Given the description of an element on the screen output the (x, y) to click on. 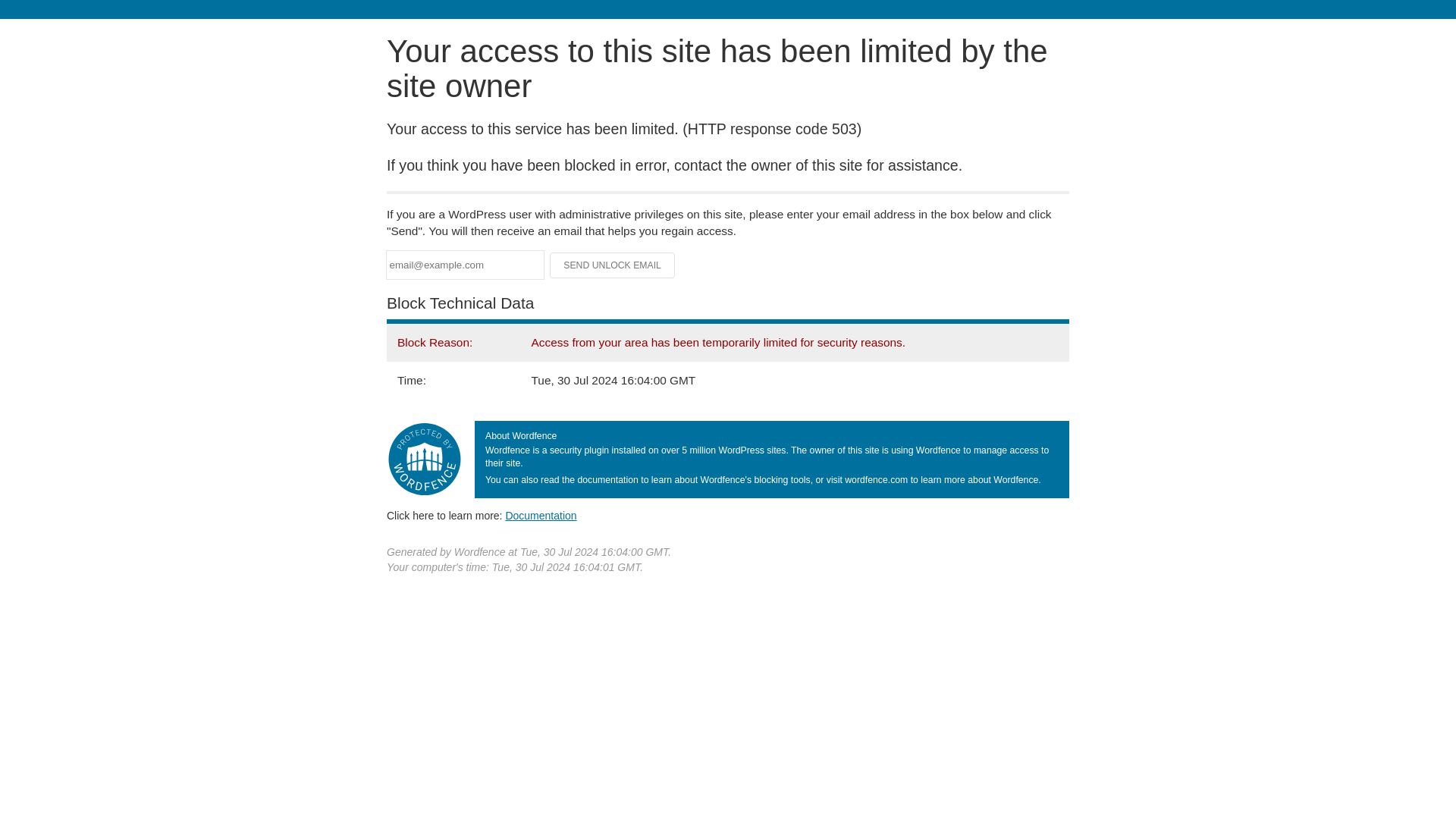
Send Unlock Email (612, 265)
Documentation (540, 515)
Send Unlock Email (612, 265)
